Given the description of an element on the screen output the (x, y) to click on. 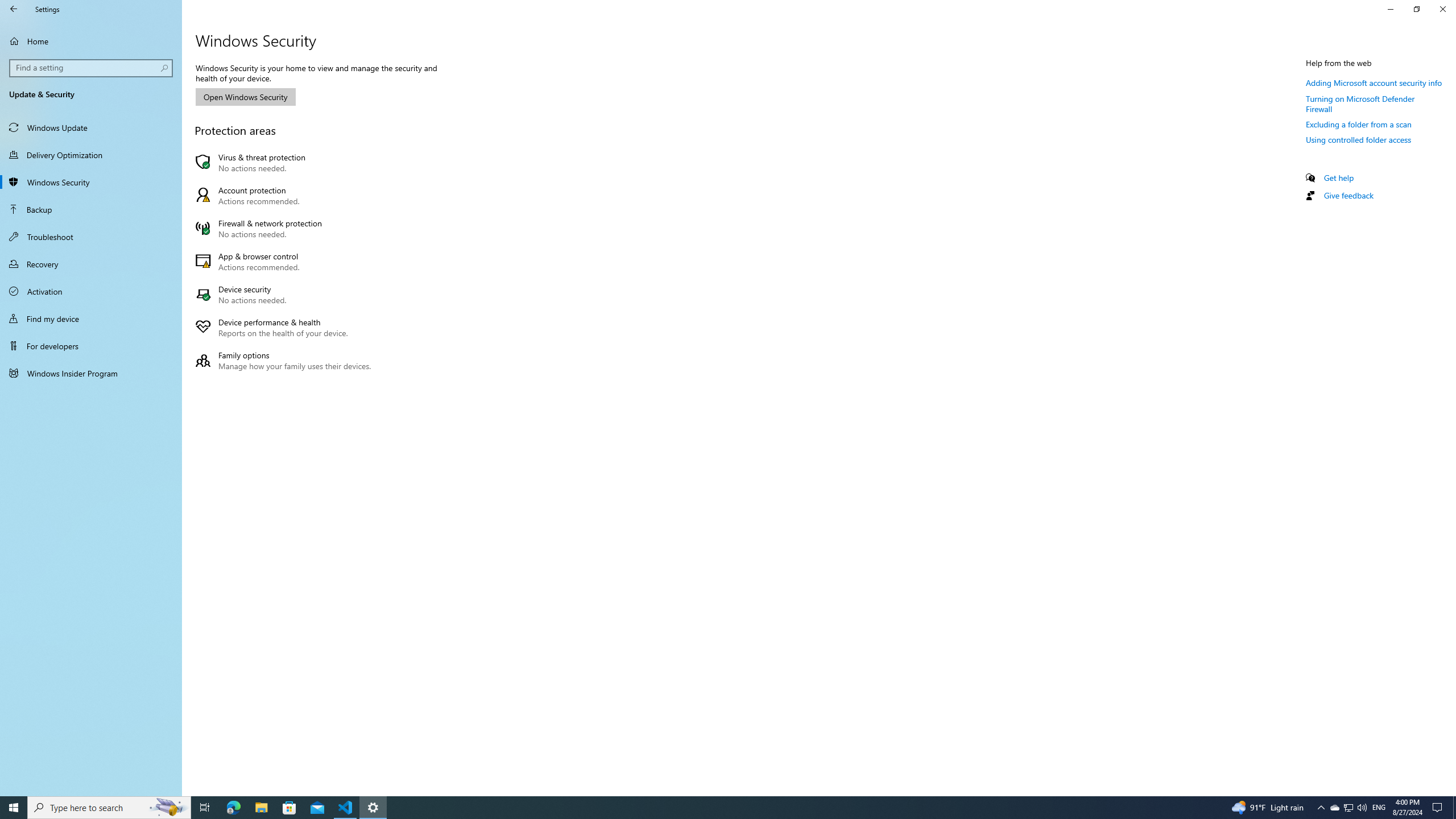
Device security No actions needed. (285, 294)
Virus & threat protection No actions needed. (285, 162)
Open Windows Security (245, 96)
Windows Security (91, 181)
Settings - 1 running window (373, 807)
